Given the description of an element on the screen output the (x, y) to click on. 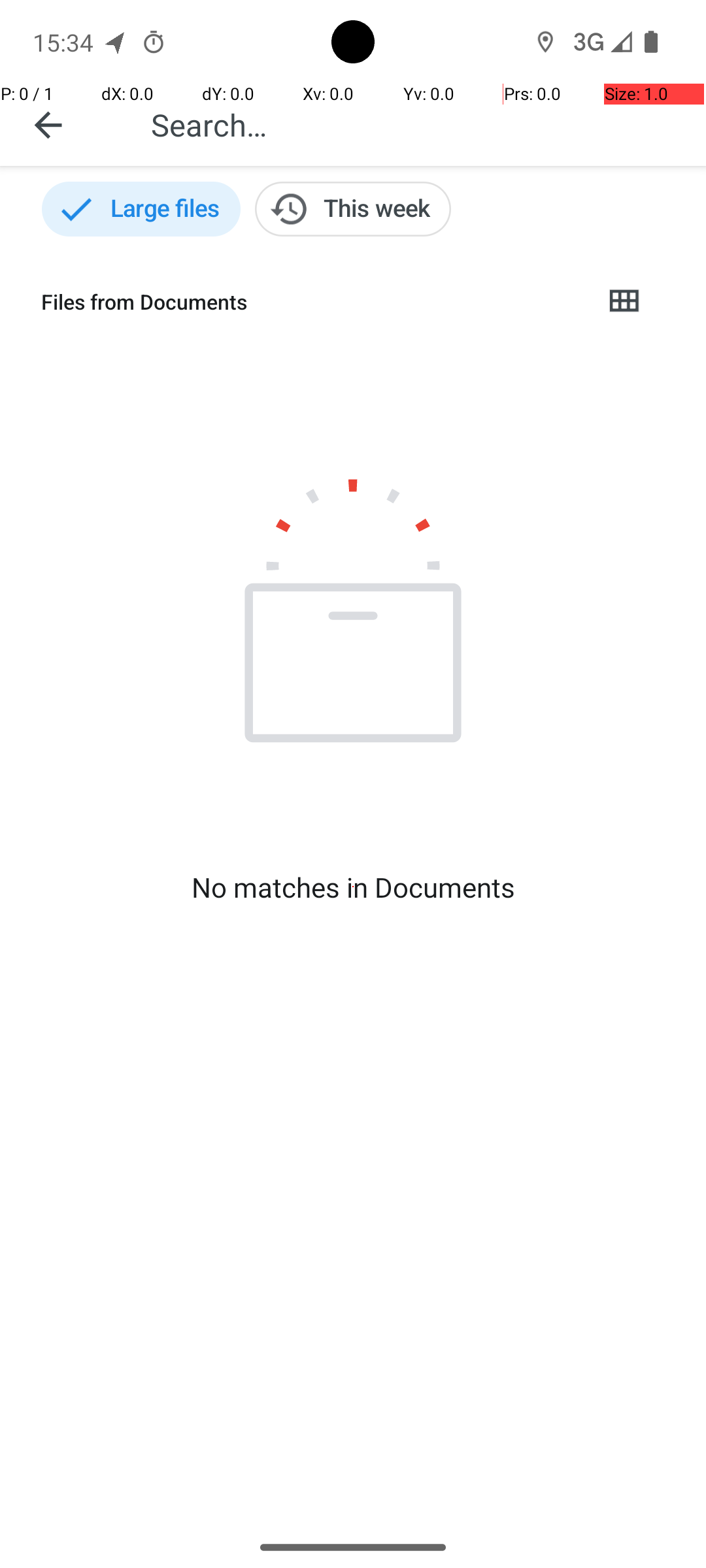
No matches in Documents Element type: android.widget.TextView (353, 886)
